Given the description of an element on the screen output the (x, y) to click on. 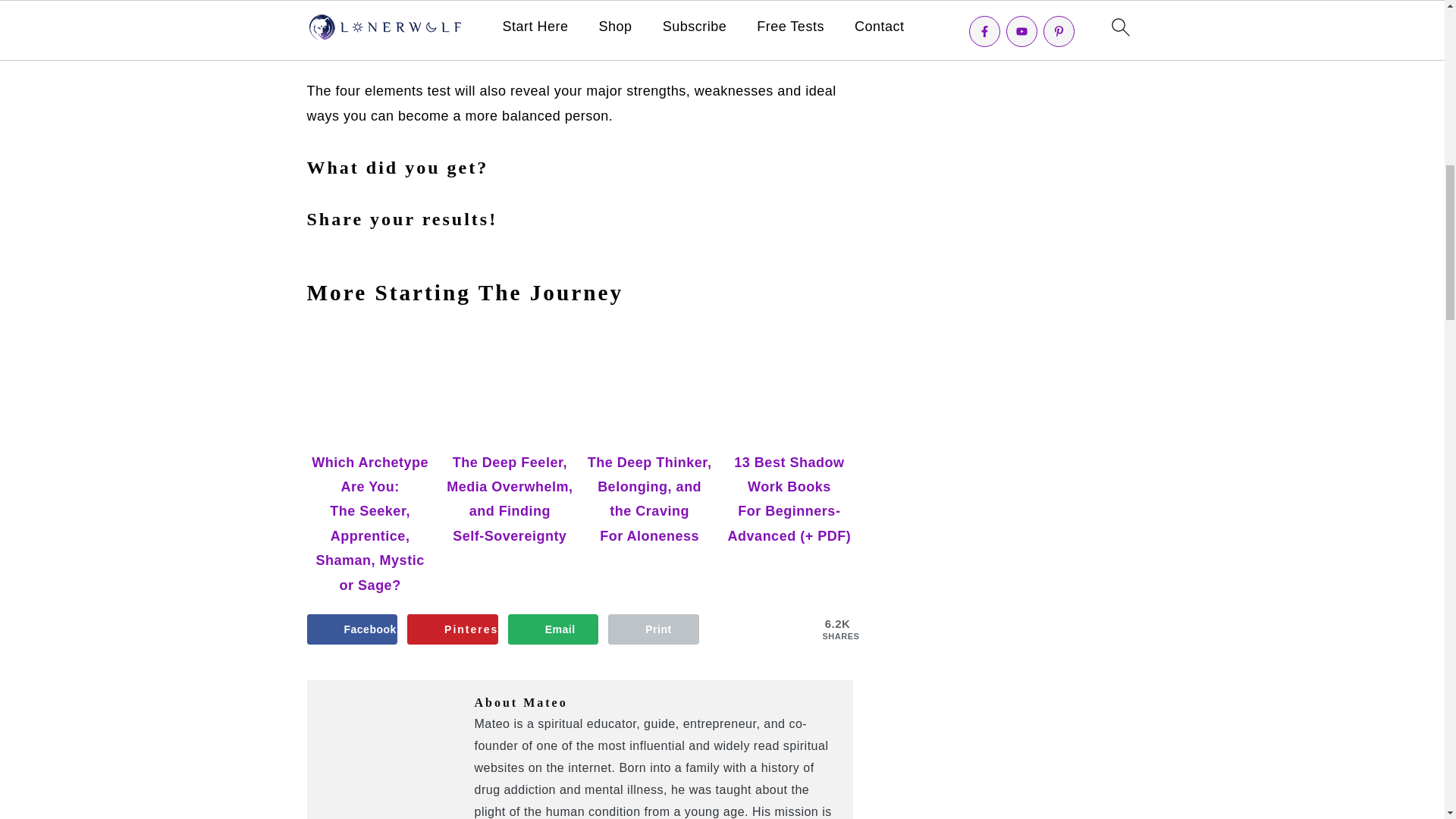
Print this webpage (653, 629)
Share on Facebook (351, 629)
Save to Pinterest (452, 629)
Send over email (553, 629)
